Given the description of an element on the screen output the (x, y) to click on. 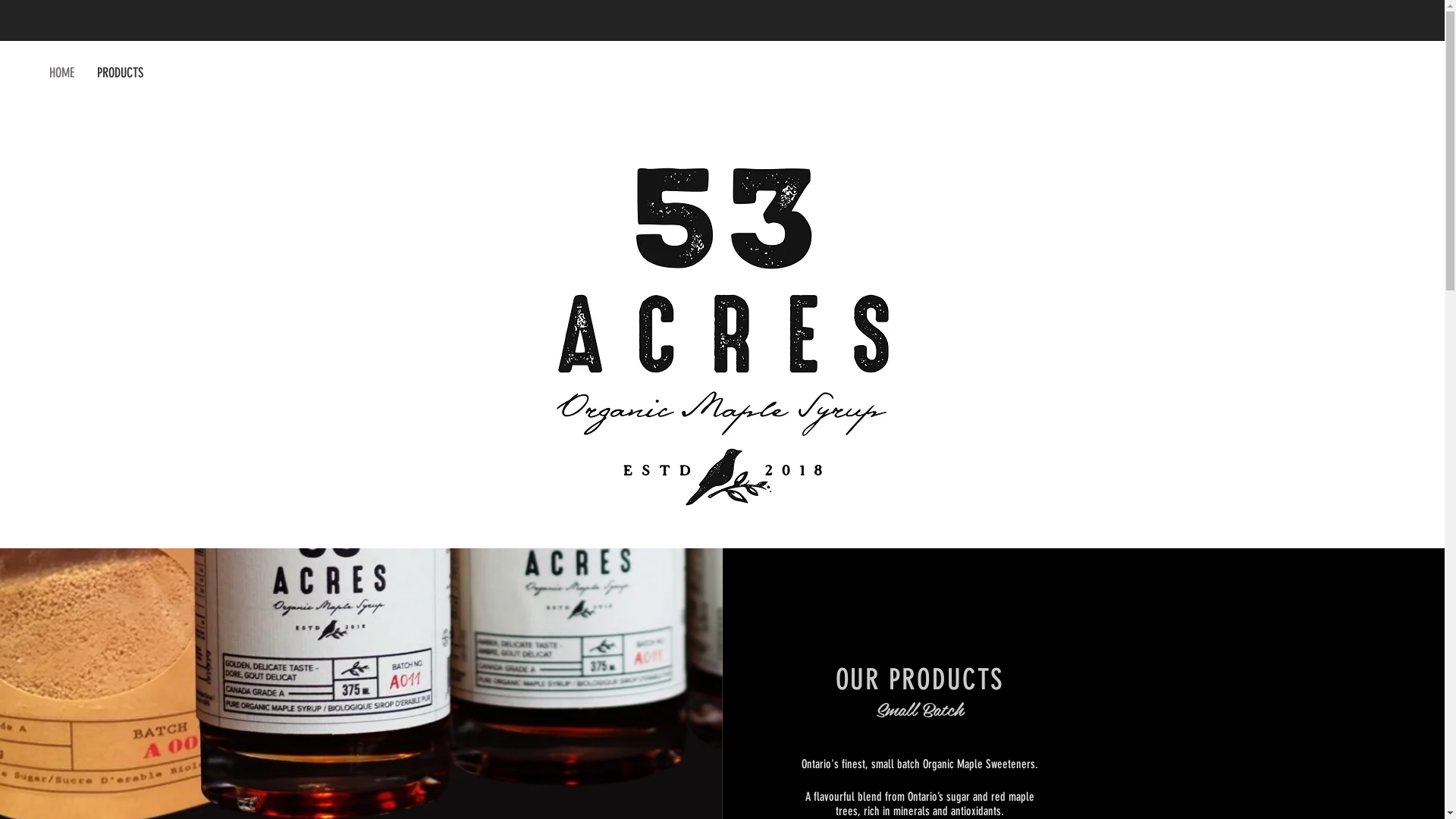
HOME Element type: text (61, 72)
PRODUCTS Element type: text (119, 72)
MENU Element type: text (722, 496)
Restaurant Social Bar Element type: hover (1340, 72)
